Given the description of an element on the screen output the (x, y) to click on. 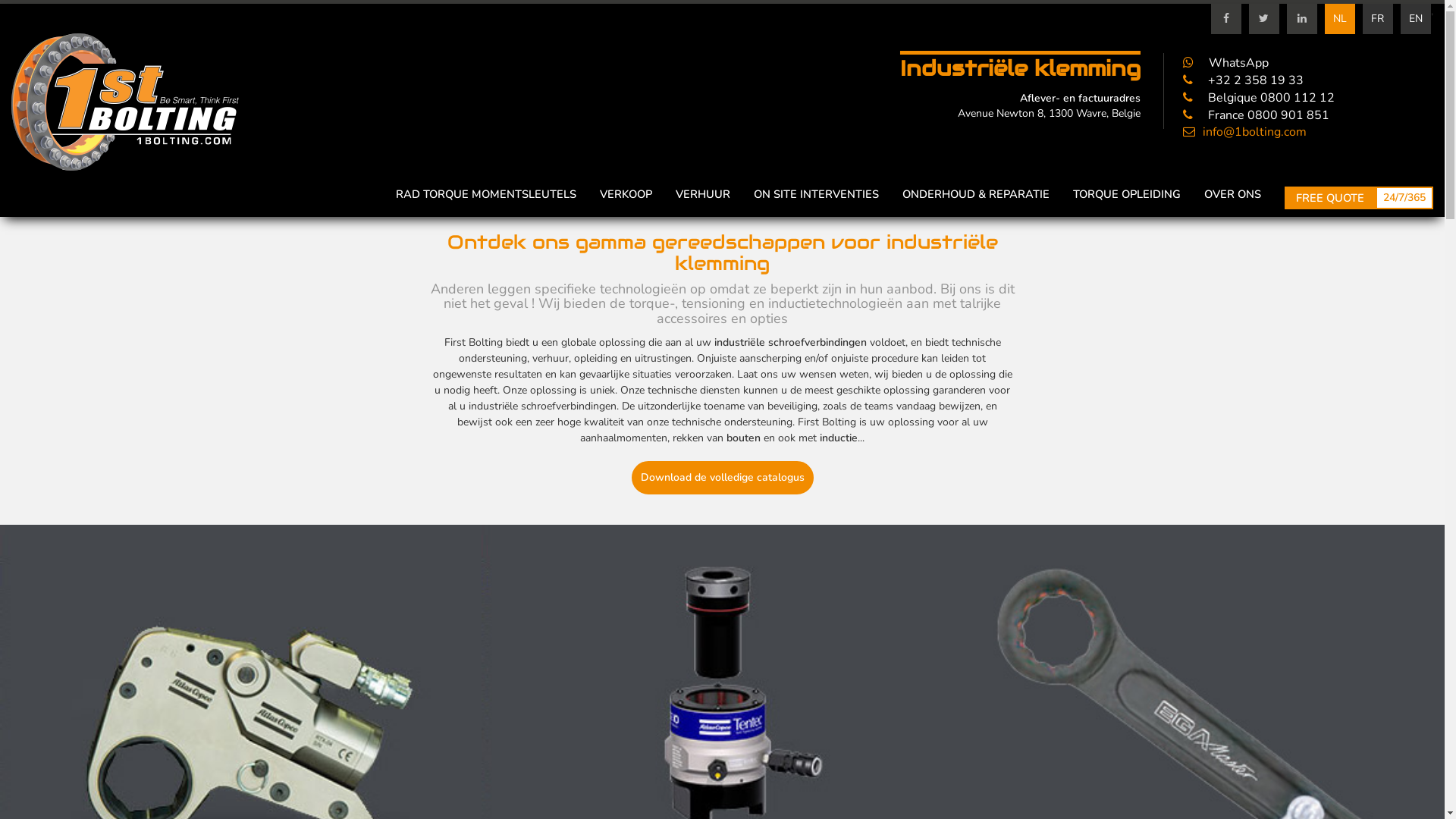
info@1bolting.com Element type: text (1244, 131)
OVER ONS Element type: text (1232, 193)
Hydraulische spanners Element type: text (722, 735)
WhatsApp Element type: text (1225, 62)
Hydraulische momentsleutels (RT en RTX) Element type: text (240, 735)
VERKOOP Element type: text (625, 193)
FR Element type: text (1377, 18)
EN Element type: text (1415, 18)
NL Element type: text (1339, 18)
TORQUE OPLEIDING Element type: text (1126, 193)
RAD TORQUE MOMENTSLEUTELS Element type: text (485, 193)
Download de volledige catalogus Element type: text (721, 477)
FREE QUOTE Element type: text (1329, 197)
VERHUUR Element type: text (702, 193)
1st Bolting Element type: text (124, 102)
Ringslagsleutel Element type: text (1203, 735)
ONDERHOUD & REPARATIE Element type: text (975, 193)
France 0800 901 851 Element type: text (1256, 114)
ON SITE INTERVENTIES Element type: text (815, 193)
+32 2 358 19 33 Element type: text (1243, 80)
Belgique 0800 112 12 Element type: text (1258, 97)
